Given the description of an element on the screen output the (x, y) to click on. 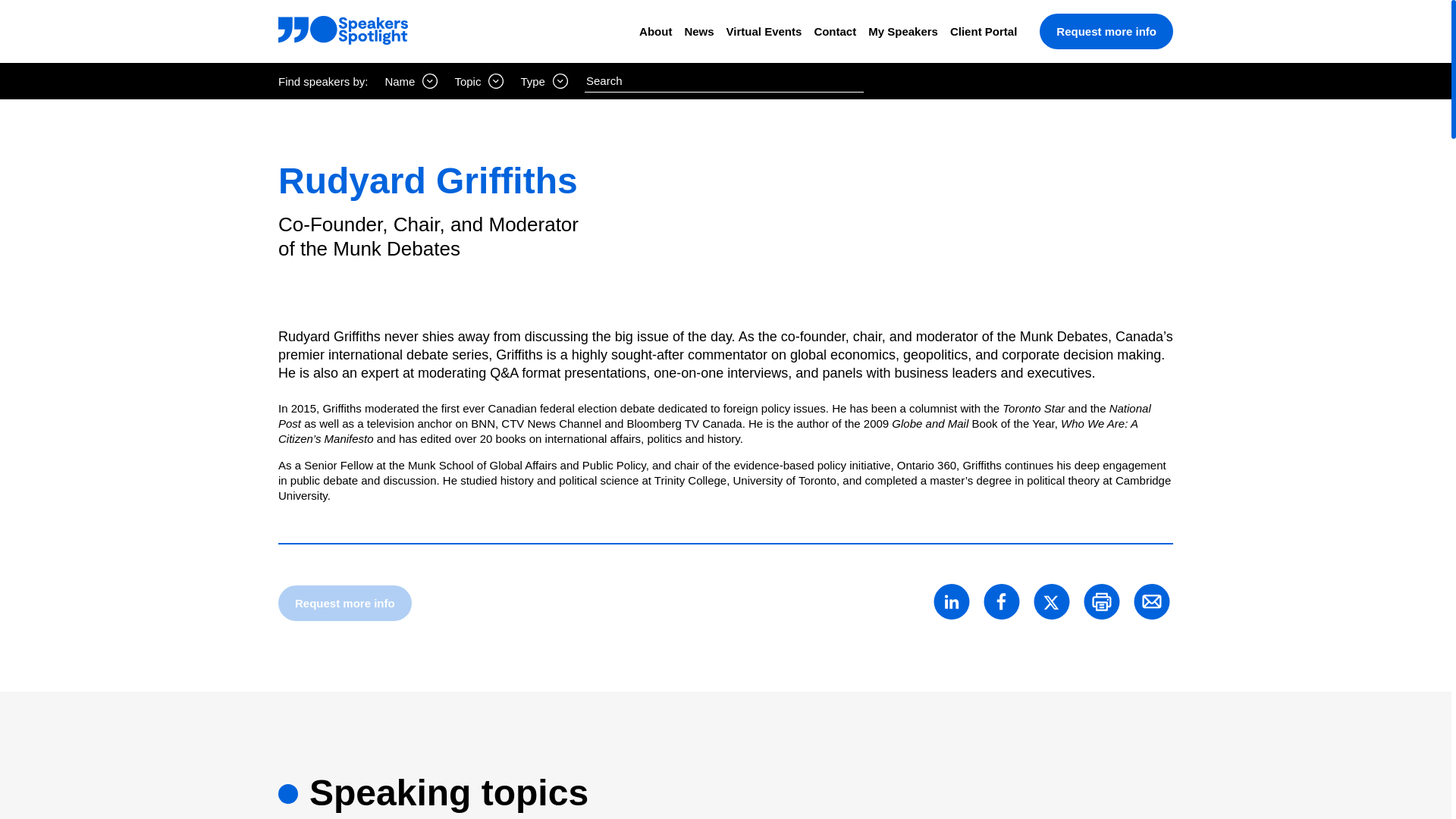
Client Portal (983, 31)
My Speakers (902, 31)
About (655, 31)
Request more info (1106, 31)
Name (411, 80)
Virtual Events (764, 31)
News (698, 31)
Contact (834, 31)
